Given the description of an element on the screen output the (x, y) to click on. 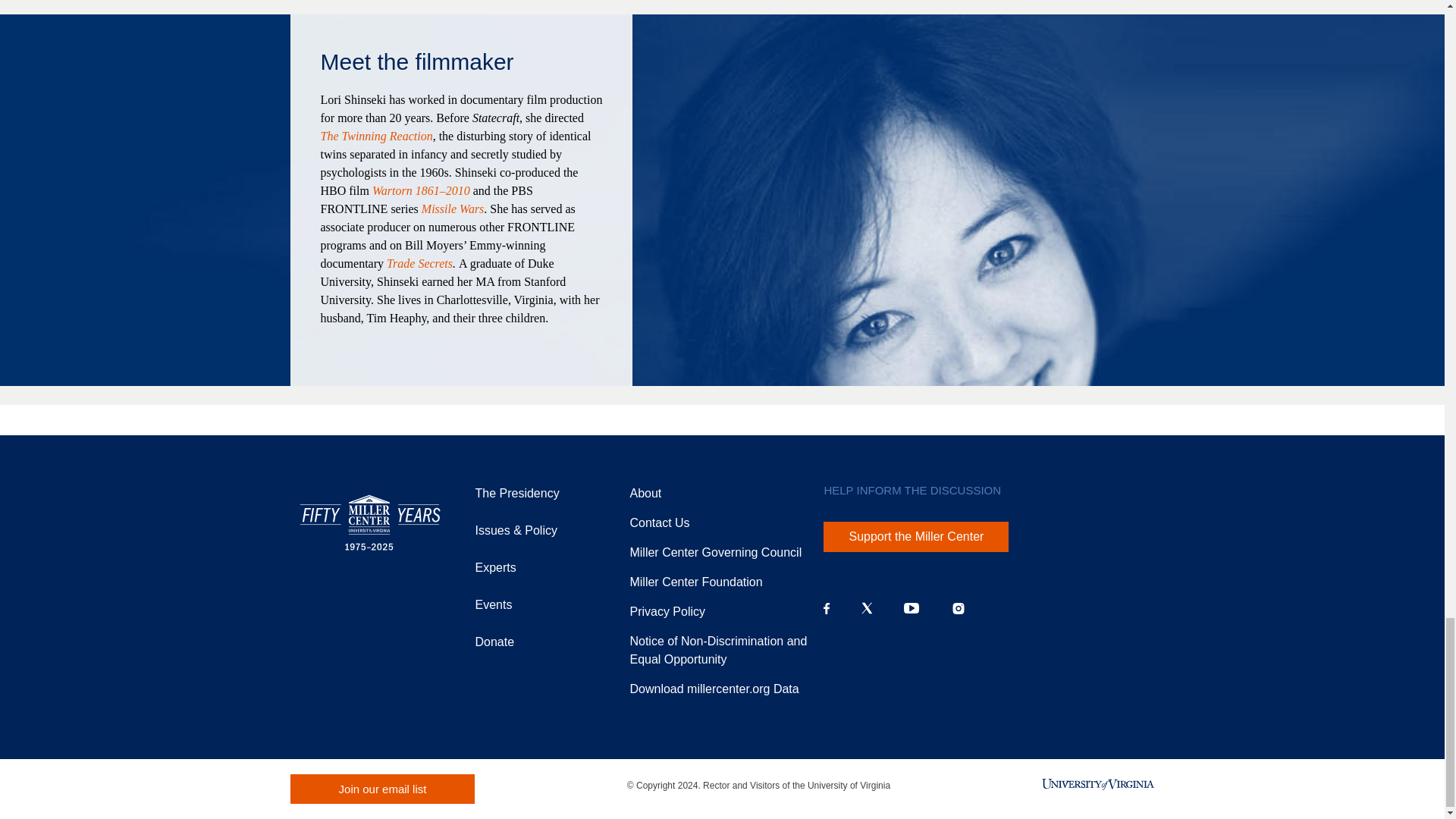
Support (694, 581)
Miller Center Web Privacy Policy (666, 611)
Home (369, 522)
